Given the description of an element on the screen output the (x, y) to click on. 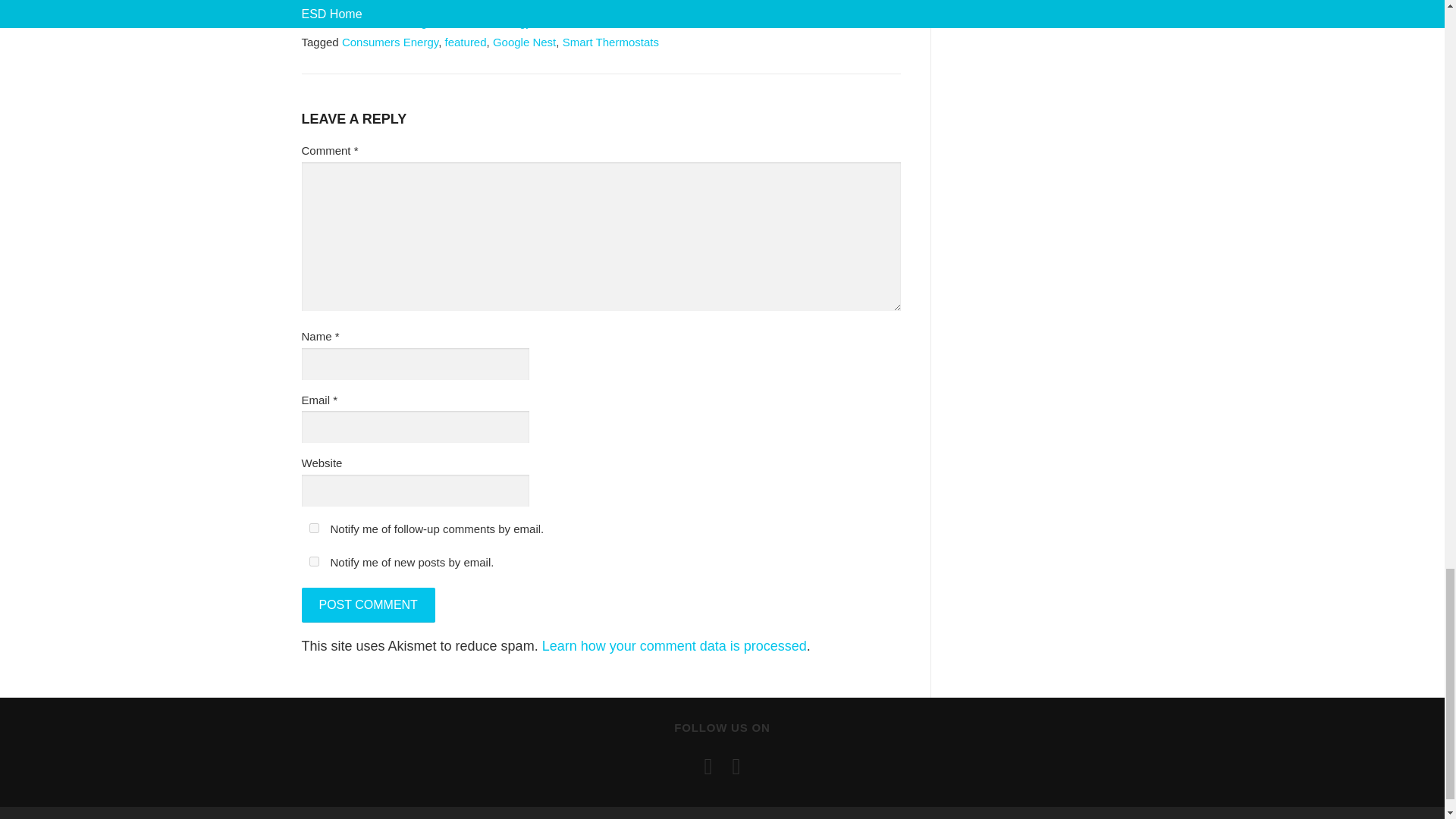
subscribe (313, 561)
subscribe (313, 528)
Smart Homes (572, 21)
Utilities (630, 21)
Green Buildings (392, 21)
Consumers Energy (390, 42)
Learn how your comment data is processed (673, 645)
Google Nest (524, 42)
Post Comment (368, 605)
Green Technology (484, 21)
Smart Thermostats (610, 42)
Post Comment (368, 605)
featured (465, 42)
